Given the description of an element on the screen output the (x, y) to click on. 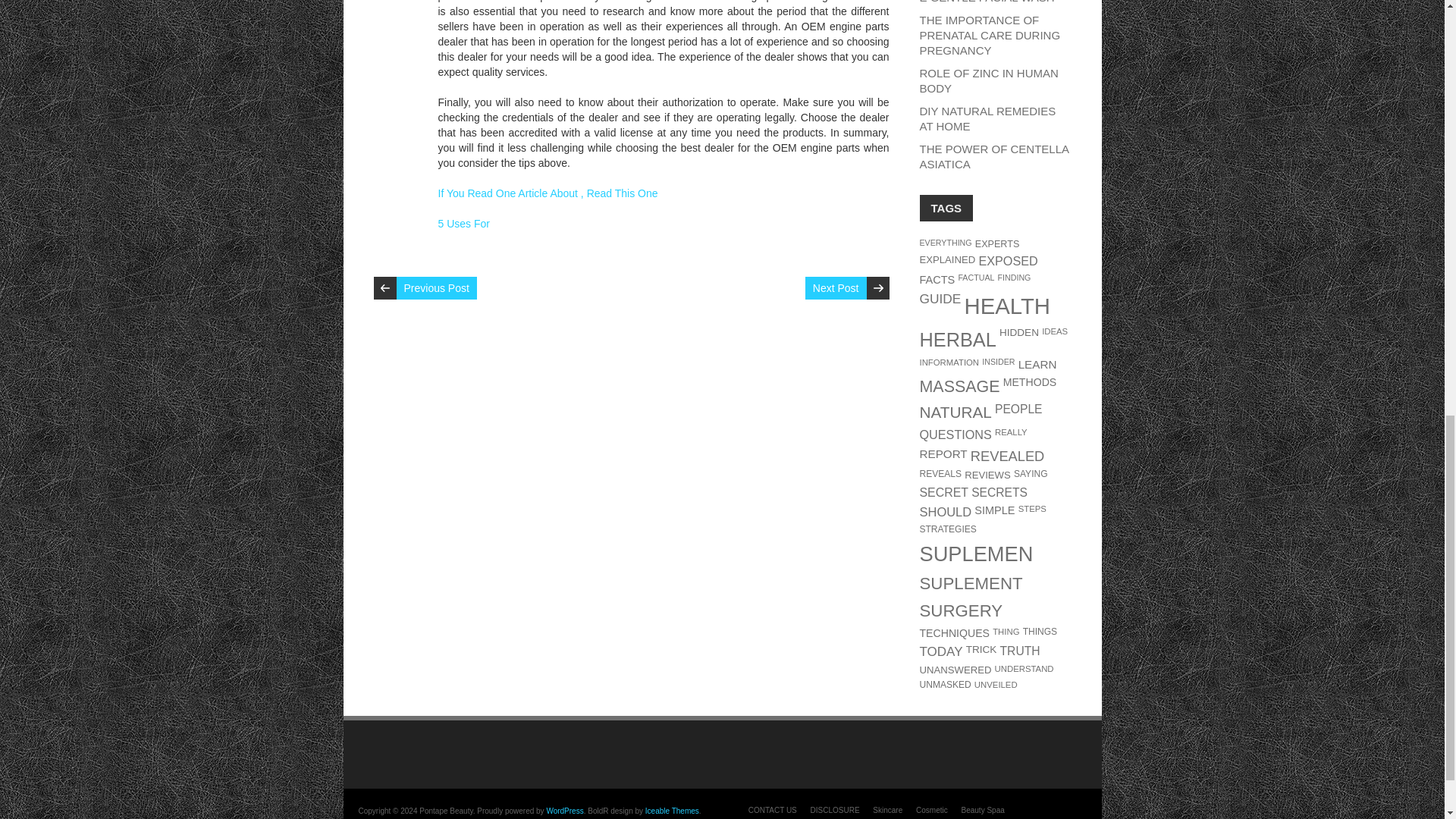
Previous Post (436, 287)
5 Uses For (463, 223)
If You Read One Article About , Read This One (548, 193)
EXPERTS (997, 244)
EXPLAINED (946, 259)
Free and Premium WordPress Themes (671, 810)
THE BODY SHOP VITAMIN E GENTLE FACIAL WASH (989, 2)
Semantic Personal Publishing Platform (564, 810)
THE POWER OF CENTELLA ASIATICA (993, 156)
DIY NATURAL REMEDIES AT HOME (986, 118)
ROLE OF ZINC IN HUMAN BODY (988, 80)
THE IMPORTANCE OF PRENATAL CARE DURING PREGNANCY (988, 34)
Next Post (835, 287)
EVERYTHING (944, 242)
